Given the description of an element on the screen output the (x, y) to click on. 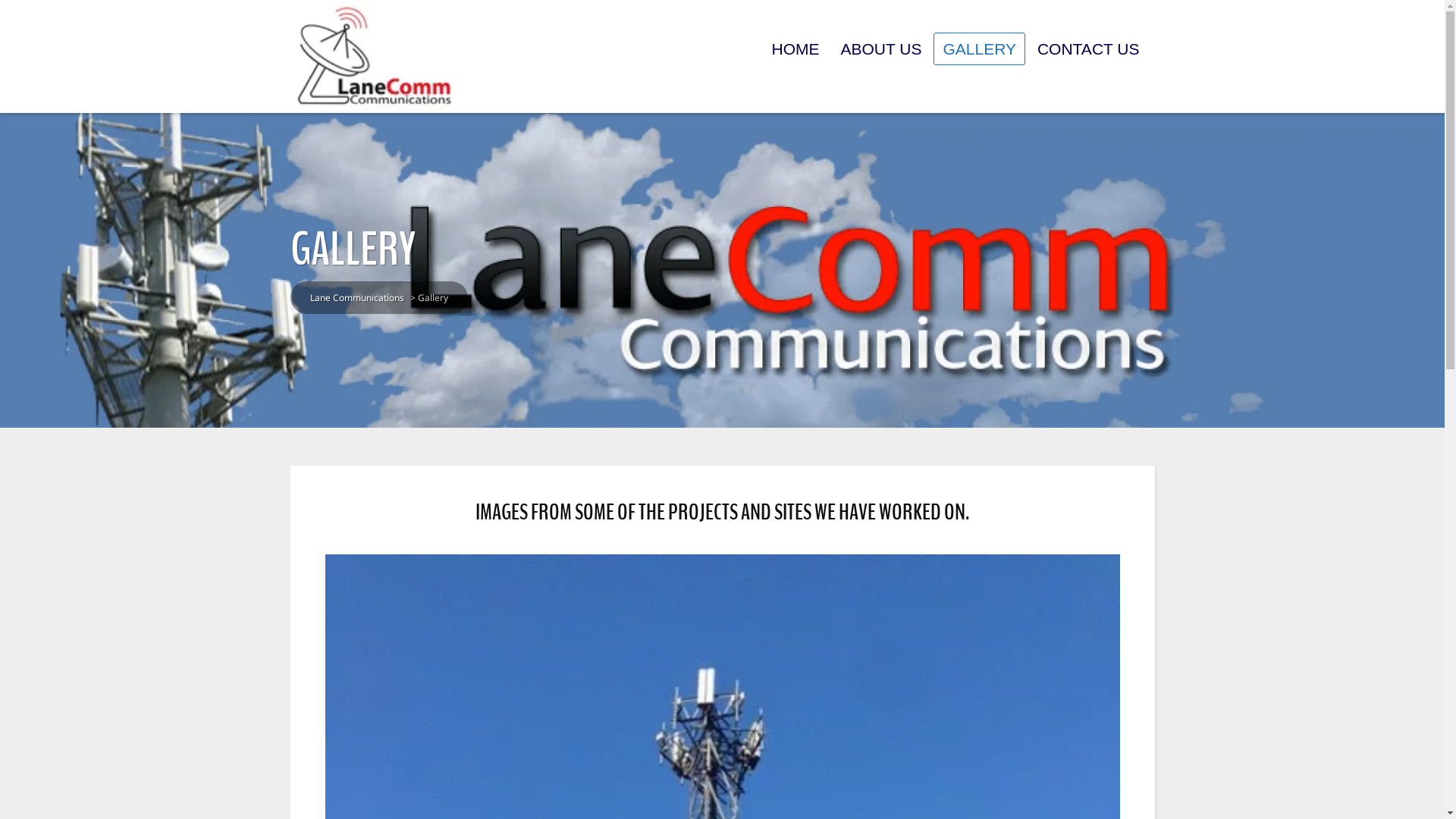
GALLERY Element type: text (979, 48)
Lane Communications Element type: hover (372, 55)
CONTACT US Element type: text (1088, 48)
HOME Element type: text (795, 48)
ABOUT US Element type: text (880, 48)
Lane Communications Element type: text (356, 297)
